Given the description of an element on the screen output the (x, y) to click on. 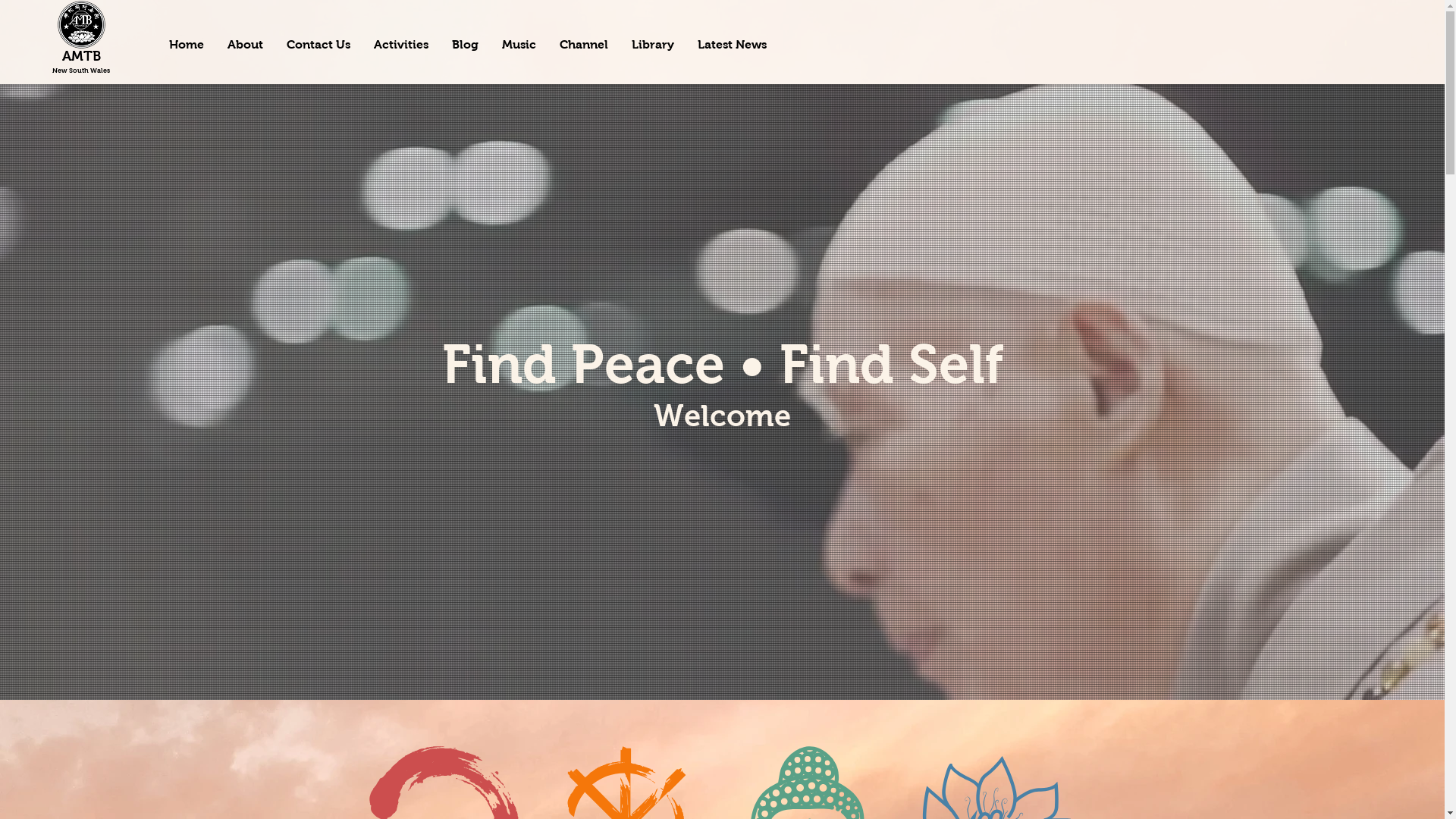
Activities Element type: text (400, 44)
Contact Us Element type: text (317, 44)
About Element type: text (244, 44)
Music Element type: text (518, 44)
Library Element type: text (652, 44)
Home Element type: text (186, 44)
Latest News Element type: text (731, 44)
Blog Element type: text (464, 44)
